Given the description of an element on the screen output the (x, y) to click on. 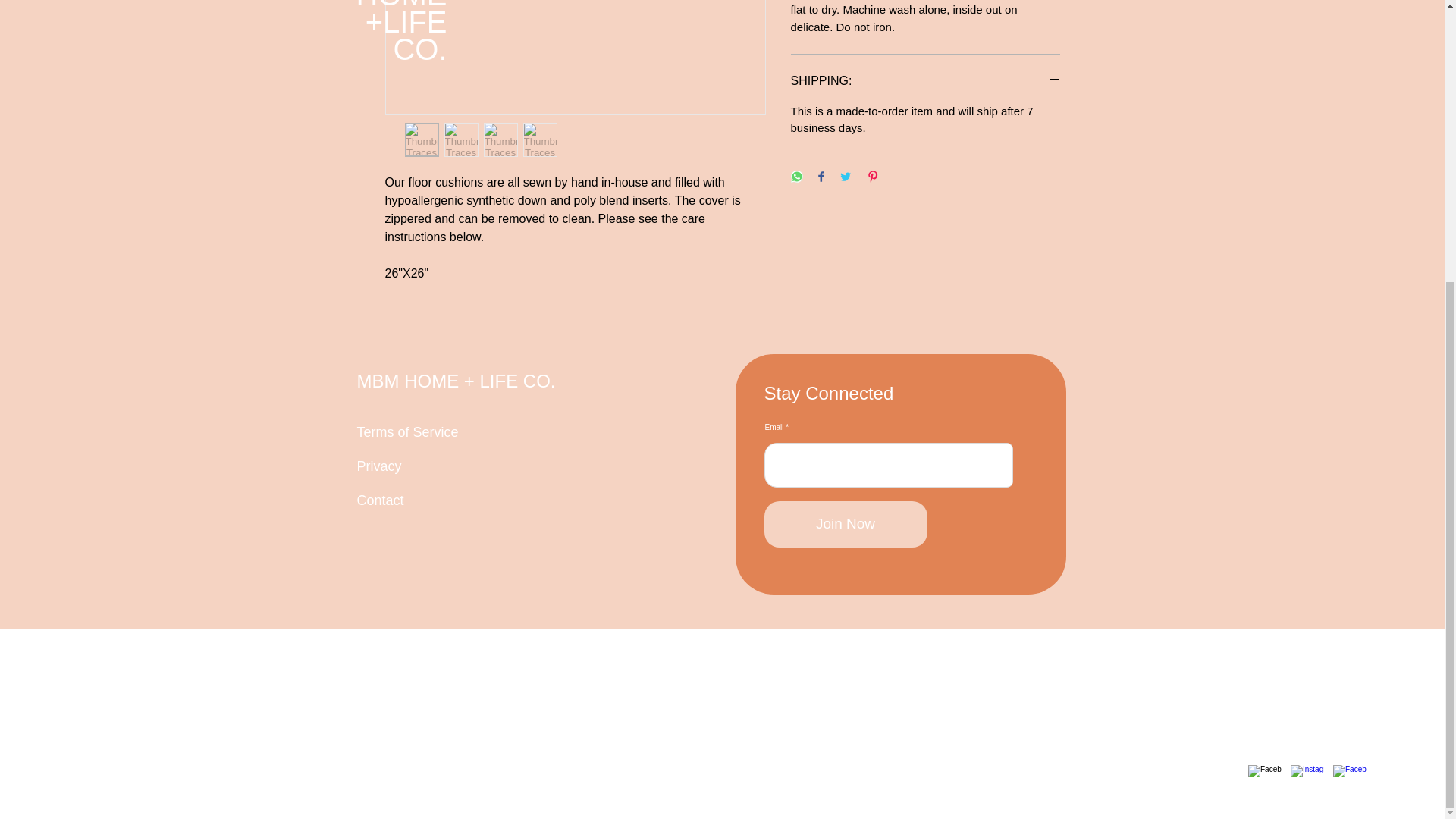
SHIPPING: (924, 80)
Join Now (845, 524)
